Given the description of an element on the screen output the (x, y) to click on. 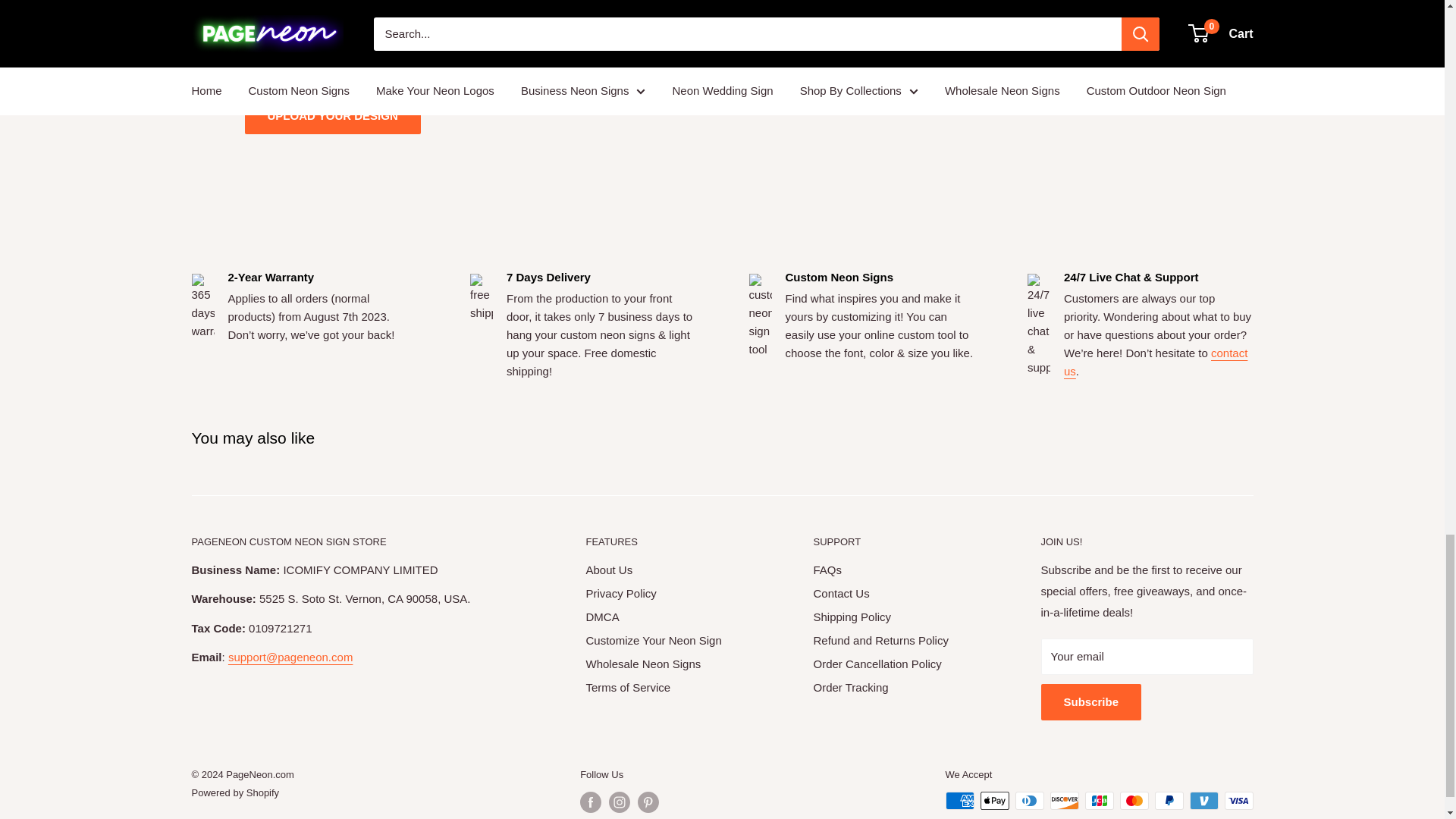
Contact Us (1155, 361)
